Given the description of an element on the screen output the (x, y) to click on. 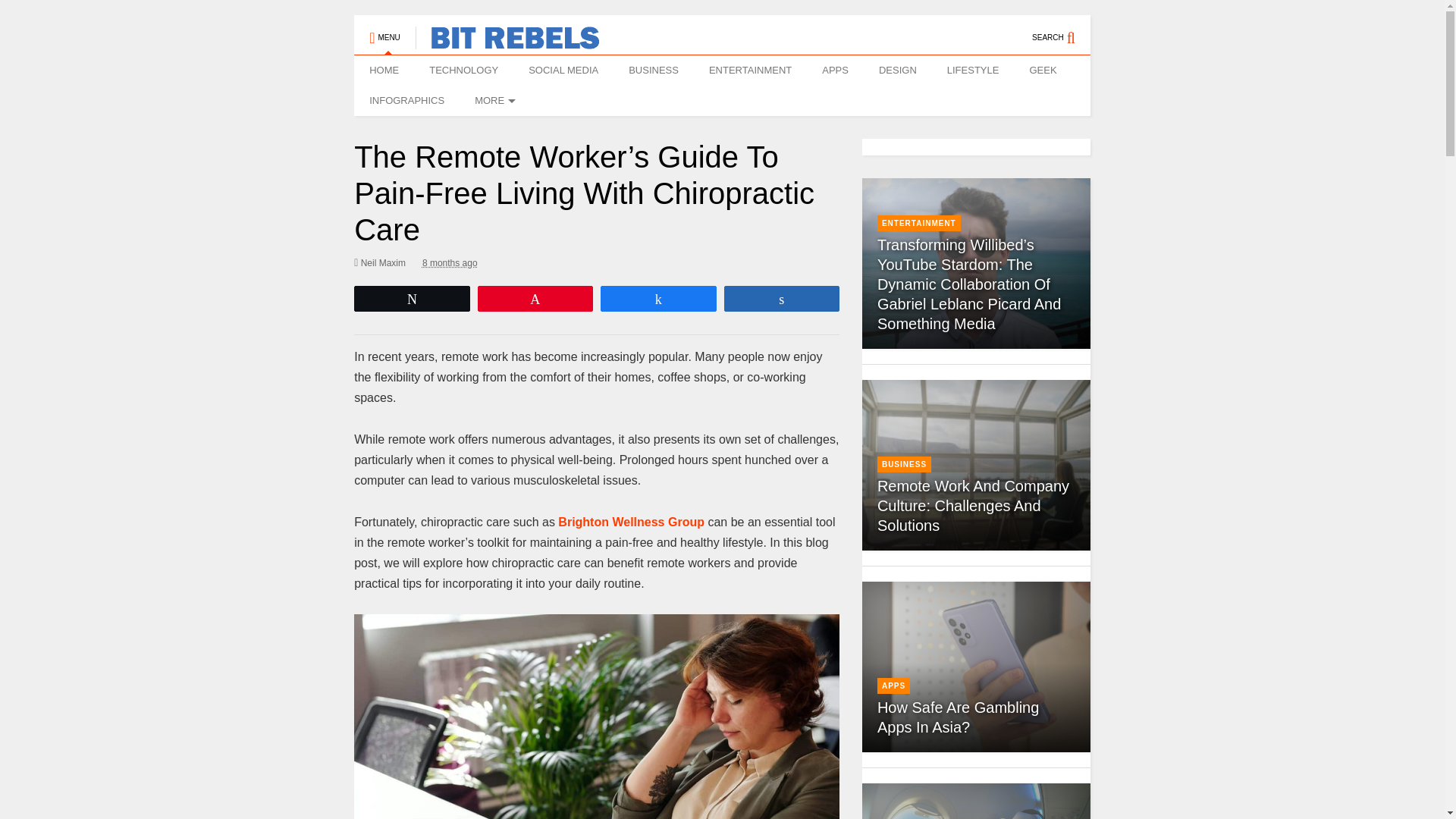
Neil Maxim (379, 263)
8 months ago (449, 263)
TECHNOLOGY (463, 70)
GEEK (1042, 70)
APPS (834, 70)
SEARCH (1061, 30)
SOCIAL MEDIA (562, 70)
Remote Work And Company Culture: Challenges And Solutions (972, 505)
BUSINESS (653, 70)
Bit Rebels (506, 42)
How Safe Are Gambling Apps In Asia? (958, 717)
MORE (493, 100)
How Safe Are Gambling Apps In Asia? (975, 666)
INFOGRAPHICS (406, 100)
HOME (383, 70)
